Given the description of an element on the screen output the (x, y) to click on. 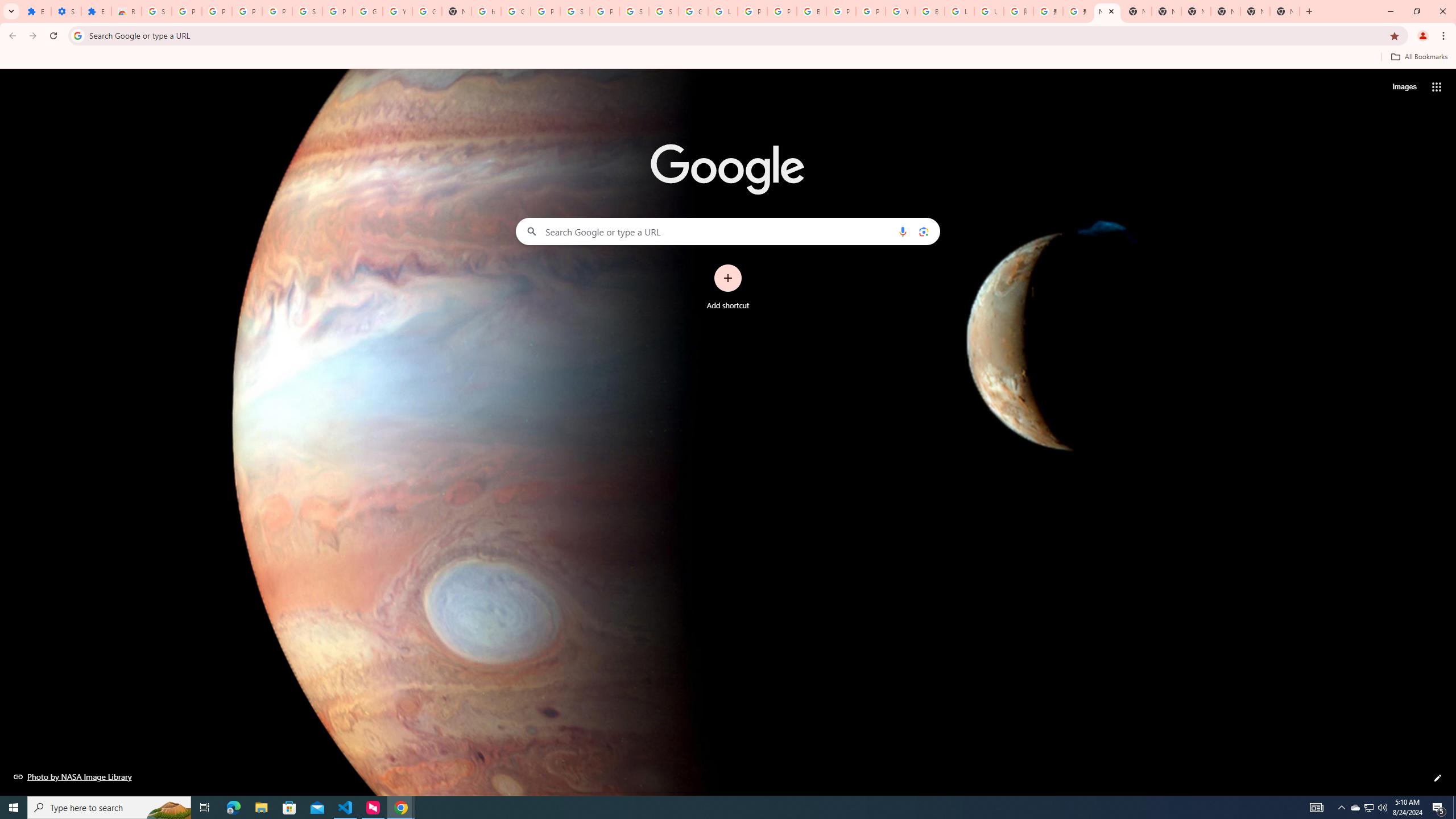
Sign in - Google Accounts (633, 11)
Sign in - Google Accounts (156, 11)
Add shortcut (727, 287)
Sign in - Google Accounts (306, 11)
https://scholar.google.com/ (485, 11)
Extensions (36, 11)
